Given the description of an element on the screen output the (x, y) to click on. 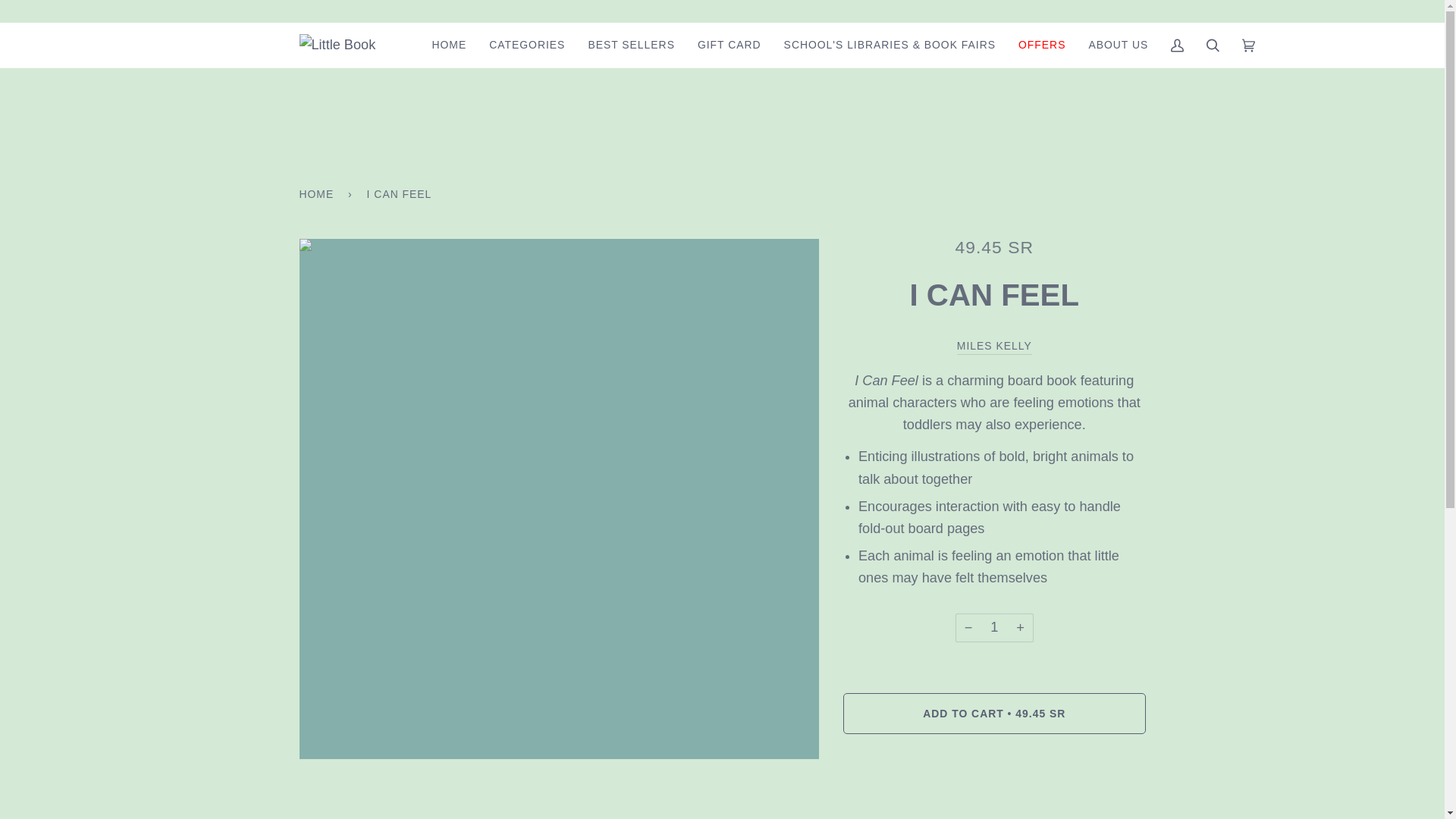
1 (994, 627)
ABOUT US (1117, 44)
HOME (448, 44)
GIFT CARD (729, 44)
BEST SELLERS (630, 44)
OFFERS (1042, 44)
CATEGORIES (526, 44)
Back to the frontpage (318, 193)
